Given the description of an element on the screen output the (x, y) to click on. 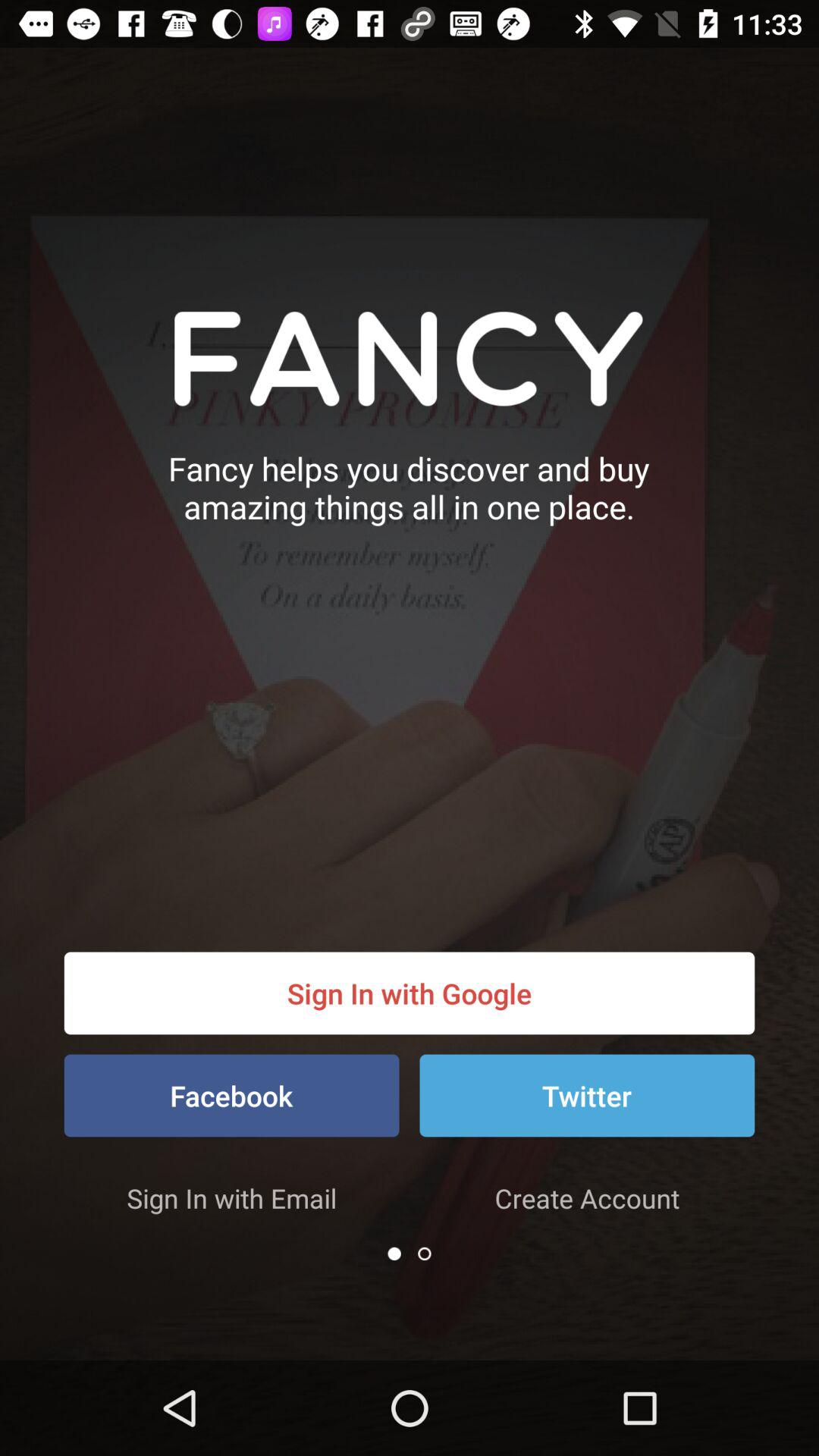
open item to the right of the facebook icon (586, 1095)
